Given the description of an element on the screen output the (x, y) to click on. 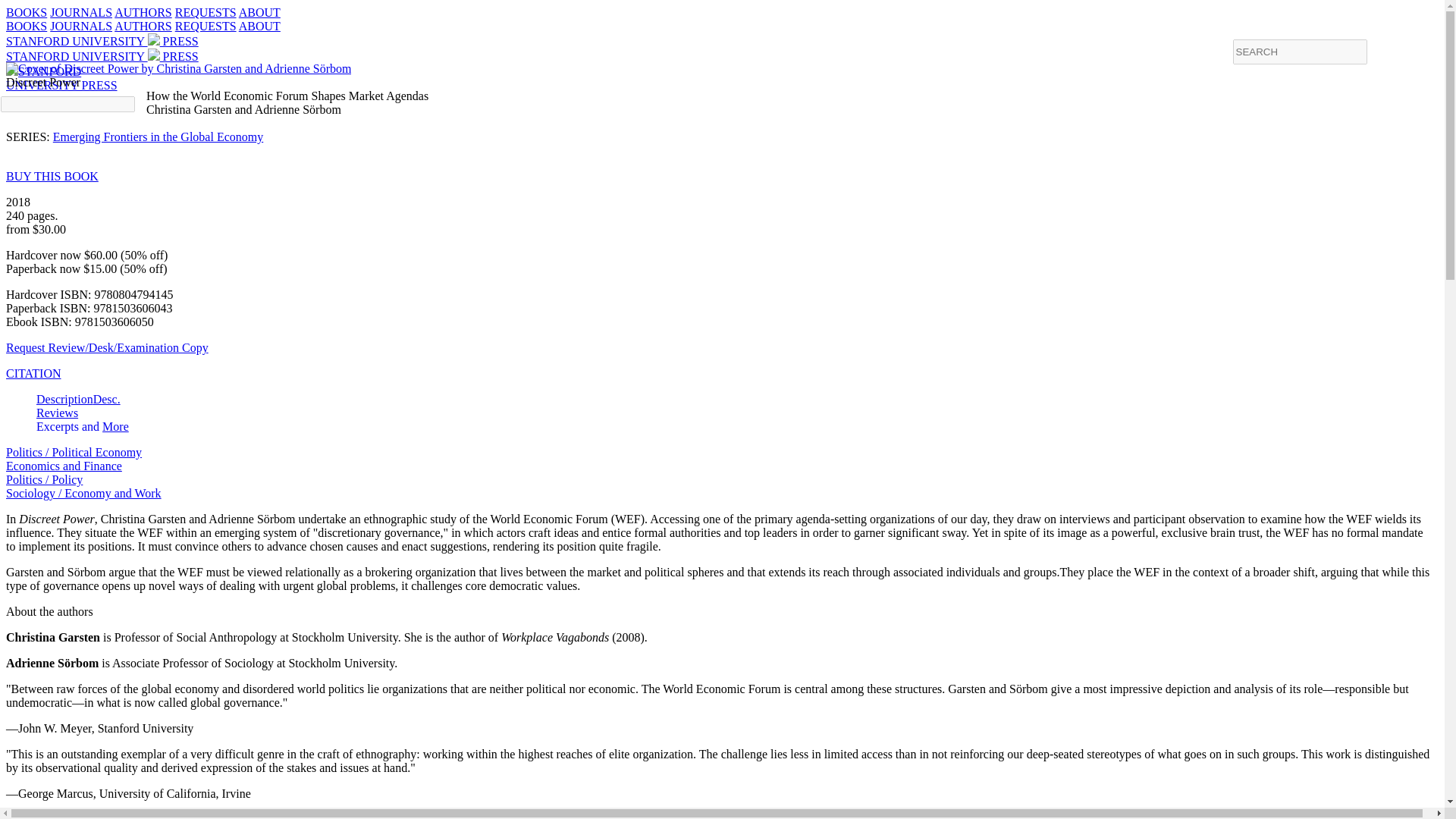
AUTHORS (143, 11)
STANFORD UNIVERSITY PRESS (101, 56)
ABOUT (259, 25)
DescriptionDesc. (78, 399)
AUTHORS (143, 25)
Emerging Frontiers in the Global Economy (115, 426)
REQUESTS (157, 136)
BOOKS (204, 11)
Economics and Finance (25, 11)
Contents (63, 465)
CITATION (33, 816)
JOURNALS (33, 373)
STANFORD UNIVERSITY PRESS (80, 25)
BUY THIS BOOK (101, 41)
